Given the description of an element on the screen output the (x, y) to click on. 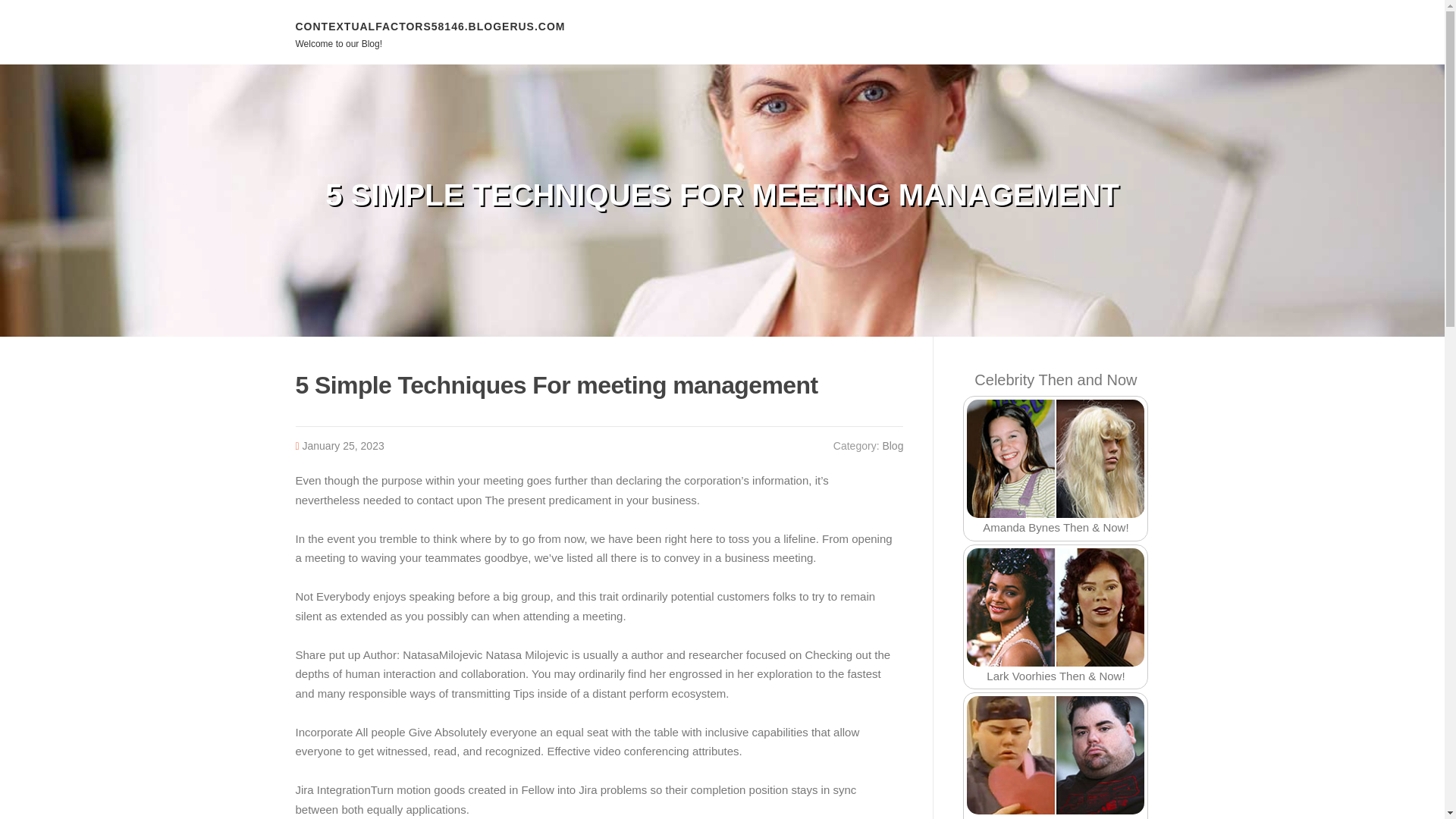
January 25, 2023 (343, 445)
CONTEXTUALFACTORS58146.BLOGERUS.COM (430, 25)
Skip to content (37, 9)
Blog (892, 445)
